Given the description of an element on the screen output the (x, y) to click on. 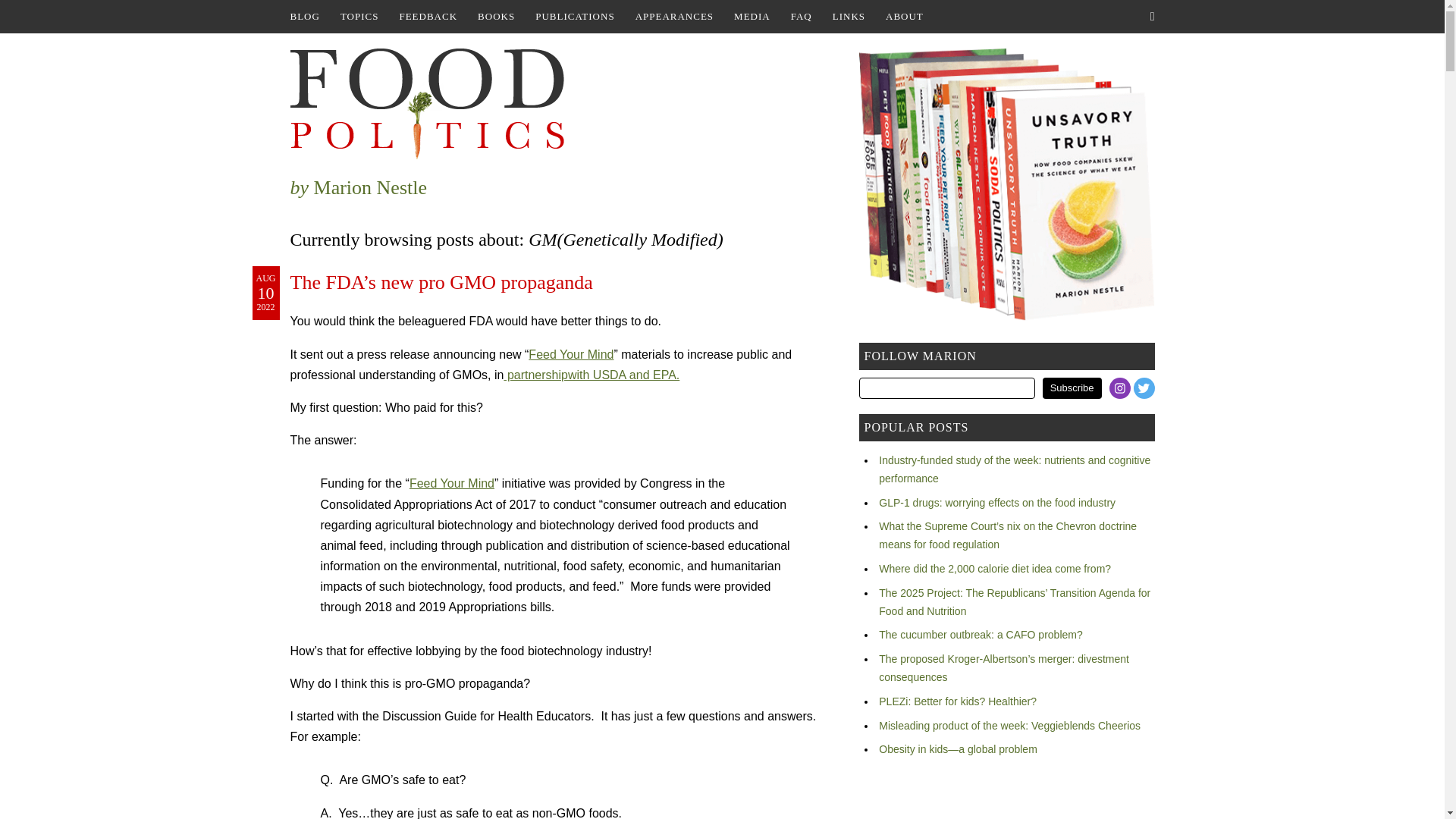
Feed Your Mind (570, 354)
APPEARANCES (673, 16)
TOPICS (360, 16)
Twitter (1143, 388)
Feed Your Mind (452, 482)
Subscribe (1072, 387)
BOOKS (496, 16)
PUBLICATIONS (574, 16)
Instagram (1120, 388)
ABOUT (904, 16)
BLOG (304, 16)
FEEDBACK (427, 16)
MEDIA (751, 16)
partnershipwith USDA and EPA. (591, 374)
FAQ (801, 16)
